Given the description of an element on the screen output the (x, y) to click on. 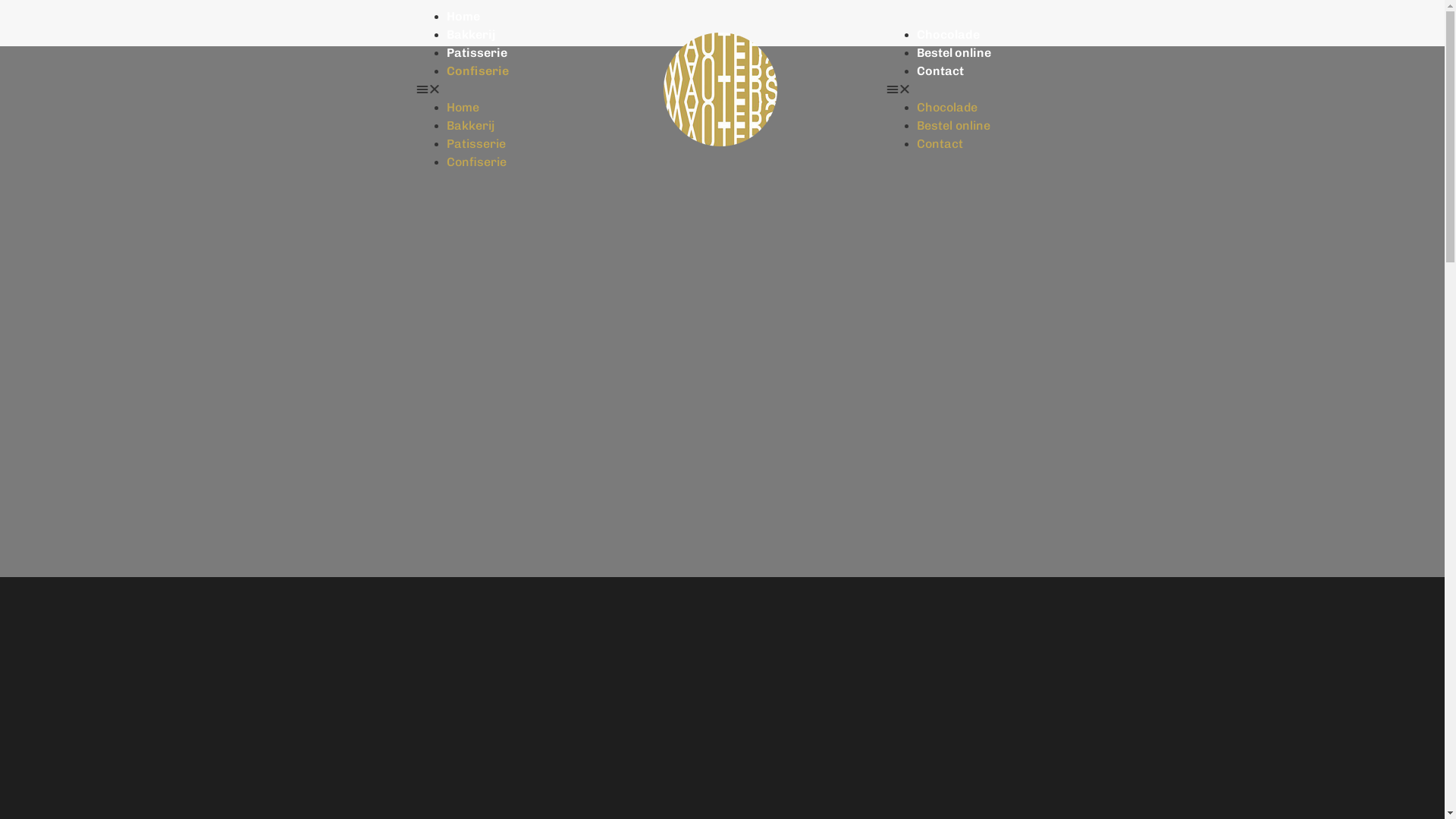
Patisserie Element type: text (475, 143)
Bestel online Element type: text (953, 125)
Patisserie Element type: text (476, 52)
Bestel online Element type: text (953, 52)
Bakkerij Element type: text (470, 34)
Home Element type: text (463, 16)
Bakkerij Element type: text (470, 125)
Home Element type: text (462, 107)
Contact Element type: text (939, 70)
Confiserie Element type: text (477, 70)
Chocolade Element type: text (947, 34)
Chocolade Element type: text (946, 107)
Contact Element type: text (939, 143)
Confiserie Element type: text (476, 161)
